Given the description of an element on the screen output the (x, y) to click on. 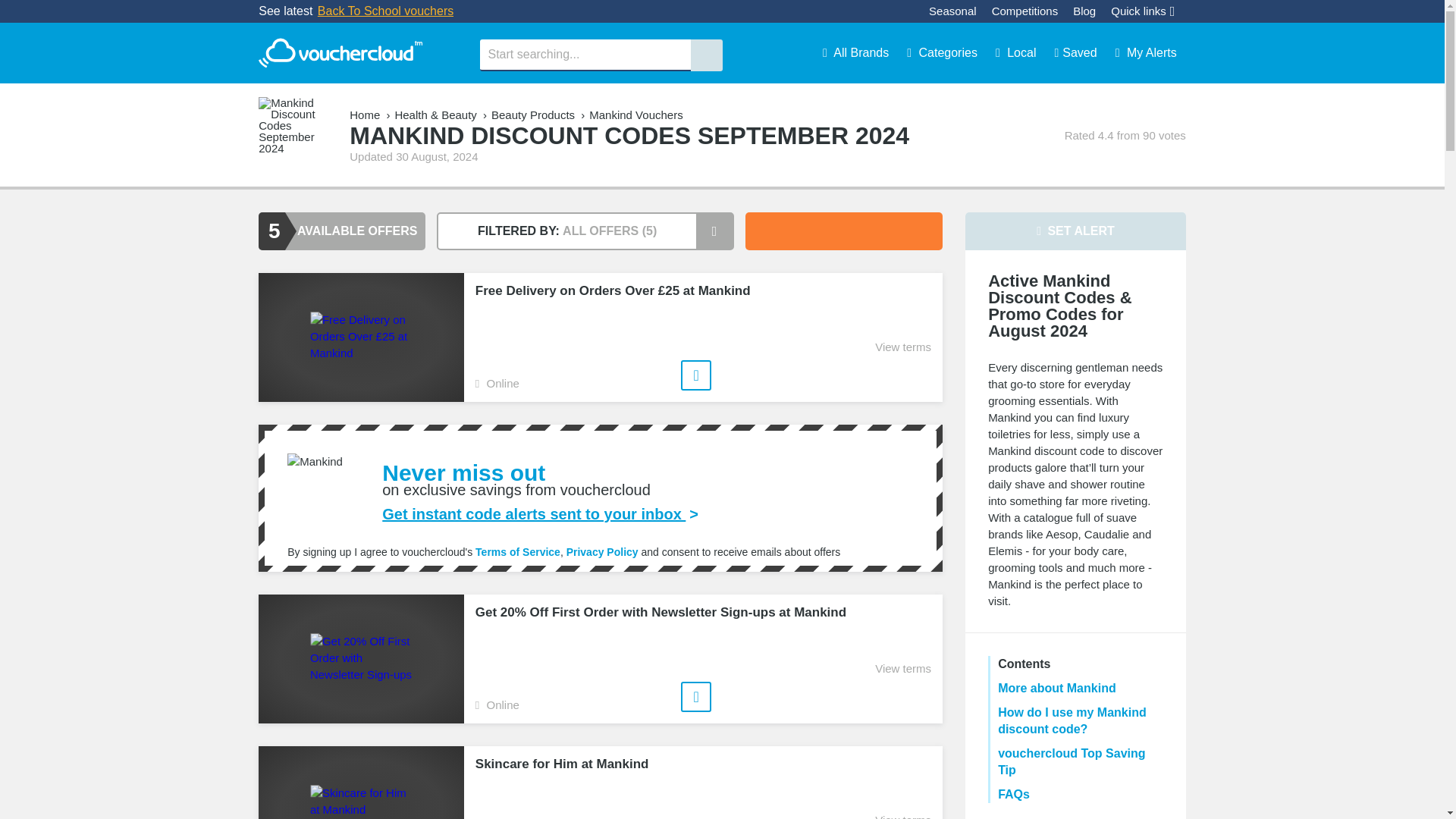
vouchercloud (340, 52)
SEARCH (706, 55)
